Given the description of an element on the screen output the (x, y) to click on. 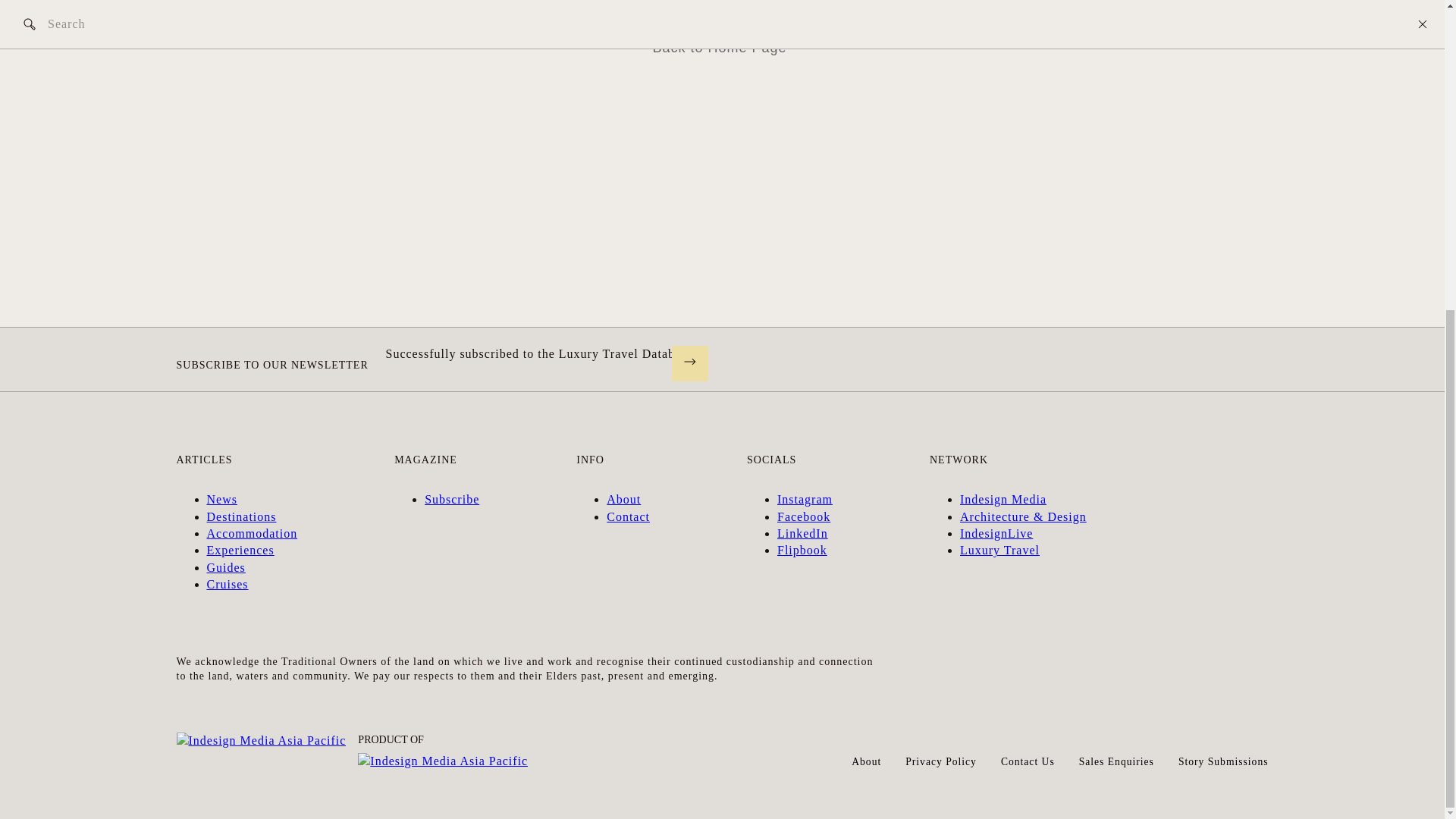
Luxury Travel (999, 549)
LinkedIn (802, 533)
Accommodation (251, 533)
Cruises (226, 584)
Contact (628, 516)
Experiences (239, 549)
Flipbook (802, 549)
Indesign Media (1002, 499)
News (220, 499)
Subscribe (452, 499)
